Given the description of an element on the screen output the (x, y) to click on. 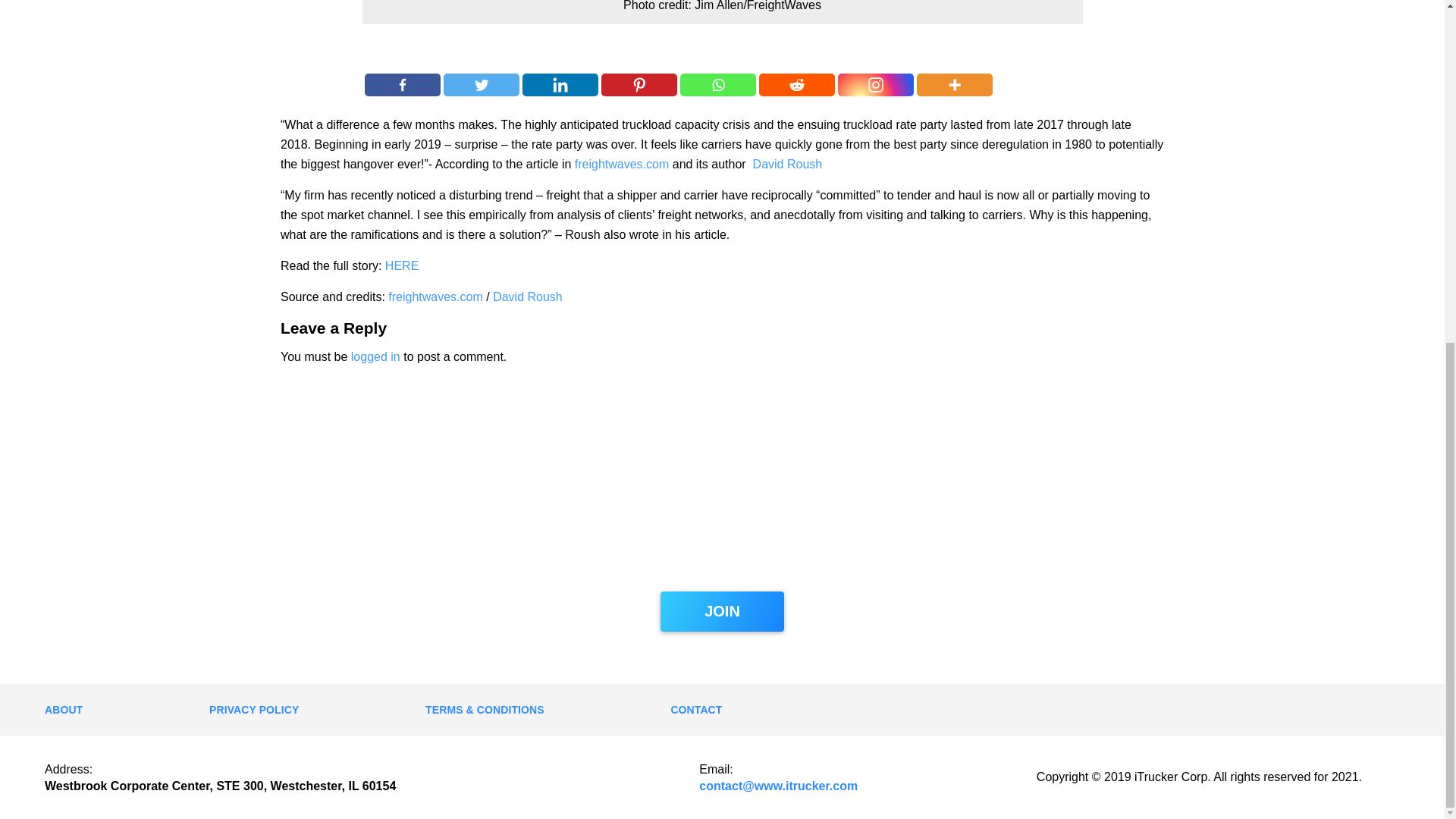
Instagram (876, 84)
Pinterest (639, 84)
David Roush (527, 296)
freightwaves.com (435, 296)
Facebook (403, 84)
David Roush (787, 164)
Whatsapp (717, 84)
Twitter (481, 84)
More (954, 84)
freightwaves.com (622, 164)
Reddit (796, 84)
HERE (402, 265)
Linkedin (560, 84)
